Given the description of an element on the screen output the (x, y) to click on. 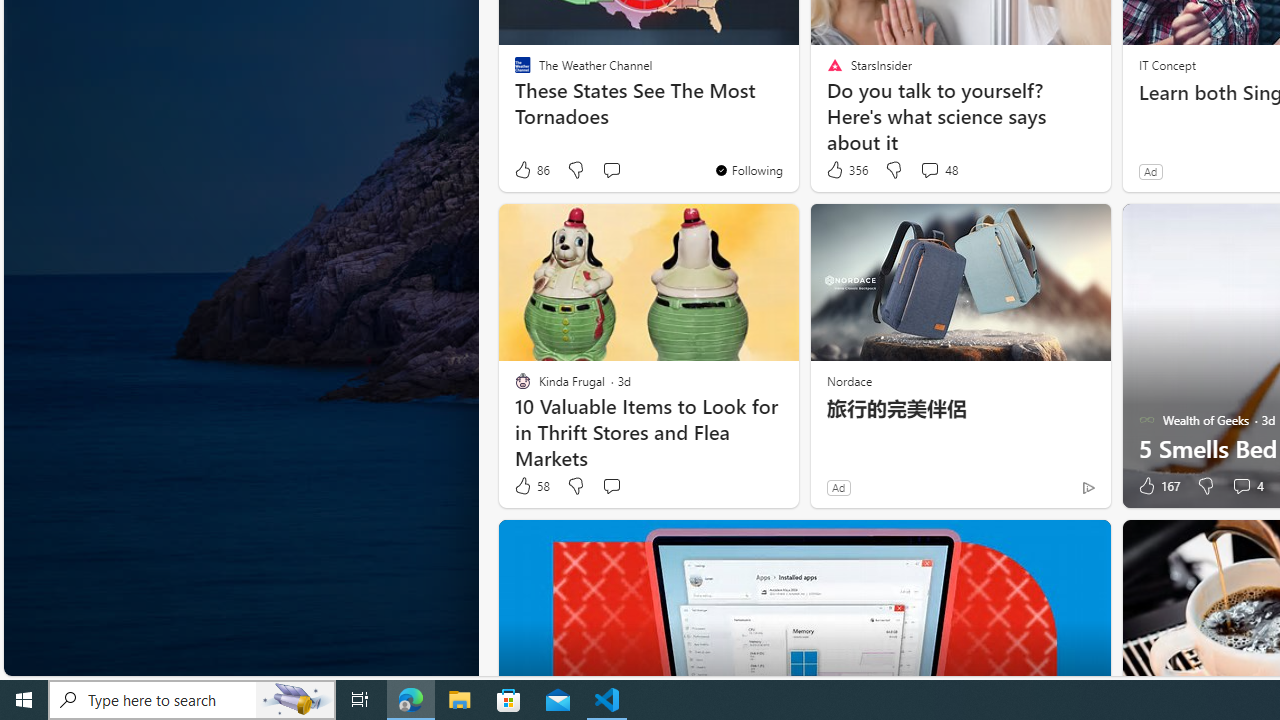
View comments 4 Comment (1241, 485)
Start the conversation (611, 485)
Nordace (848, 380)
IT Concept (1166, 64)
Start the conversation (610, 485)
View comments 48 Comment (938, 170)
You're following The Weather Channel (747, 169)
58 Like (531, 485)
86 Like (531, 170)
View comments 4 Comment (1247, 485)
Ad Choice (1087, 487)
167 Like (1157, 485)
